Given the description of an element on the screen output the (x, y) to click on. 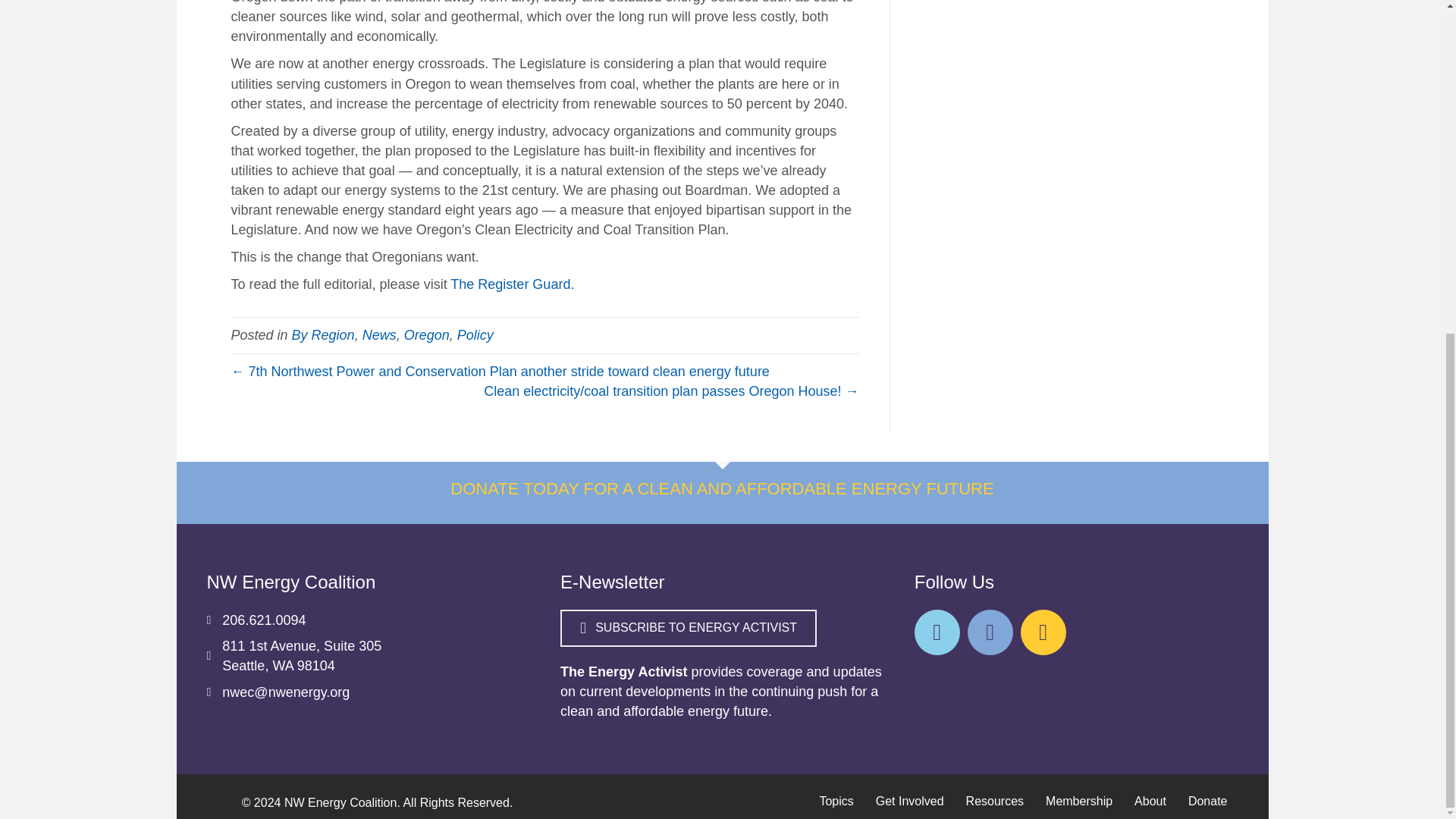
Twitter (1042, 632)
Twitter (936, 632)
Twitter (990, 632)
